Given the description of an element on the screen output the (x, y) to click on. 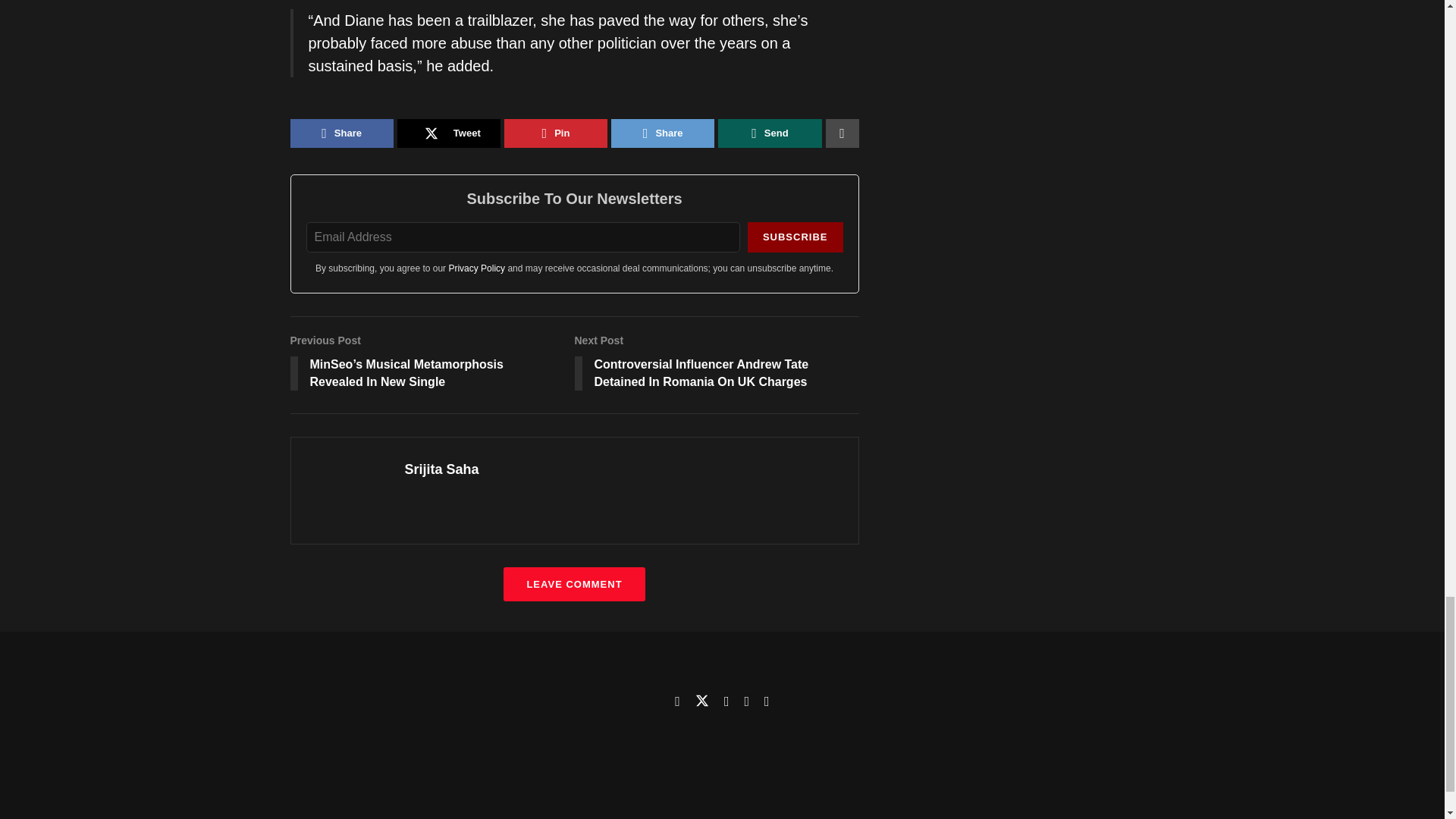
Tweet (448, 133)
Pin (555, 133)
SUBSCRIBE (795, 236)
Privacy Policy (476, 267)
Share (341, 133)
SUBSCRIBE (795, 236)
Share (662, 133)
Send (769, 133)
Srijita Saha (441, 468)
